Given the description of an element on the screen output the (x, y) to click on. 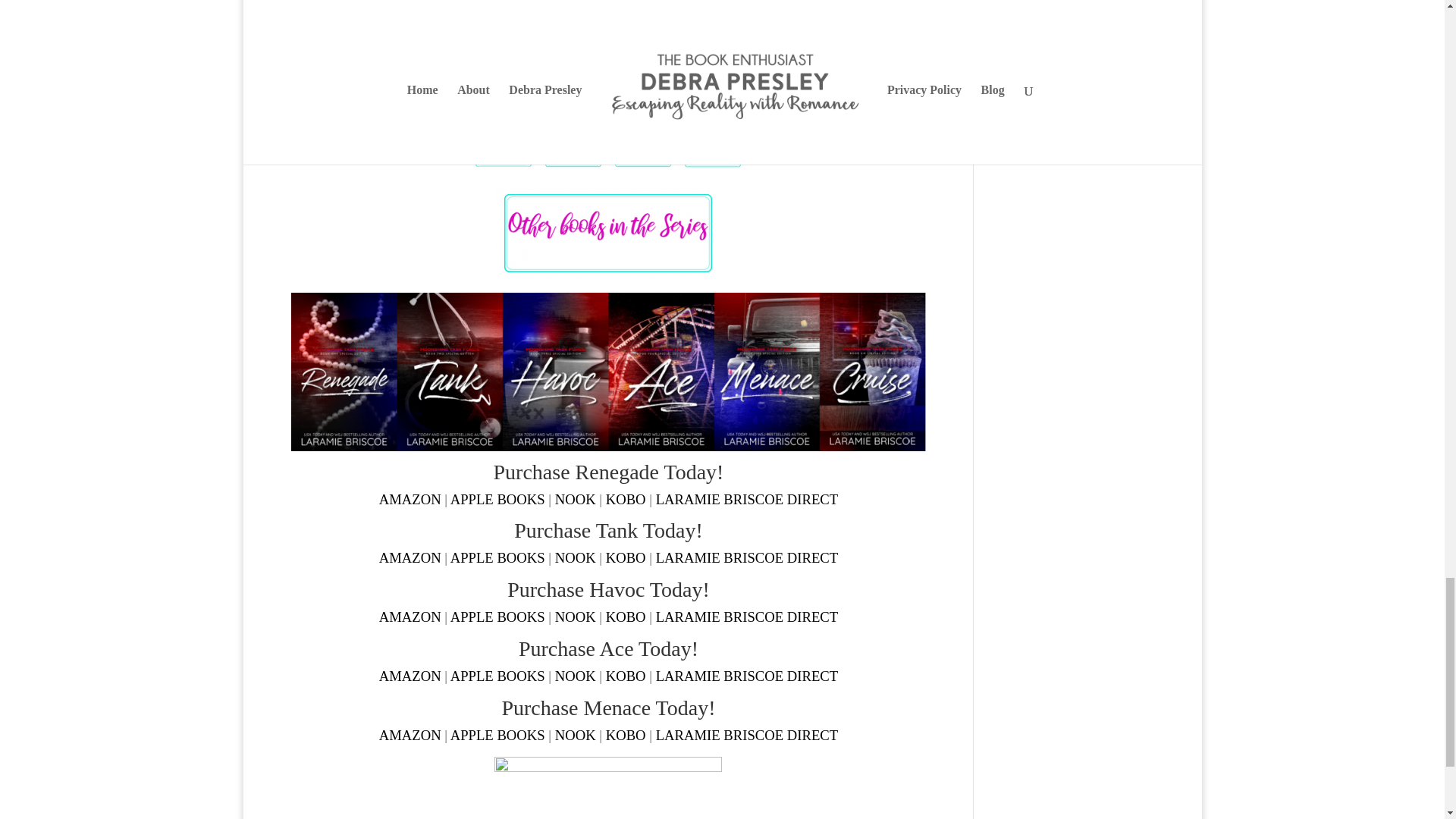
AMAZON (409, 498)
KOBO (625, 498)
LARAMIE BRISCOE DIRECT (747, 498)
APPLE BOOKS (496, 557)
AMAZON (409, 557)
NOOK (574, 498)
APPLE BOOKS (496, 498)
